Given the description of an element on the screen output the (x, y) to click on. 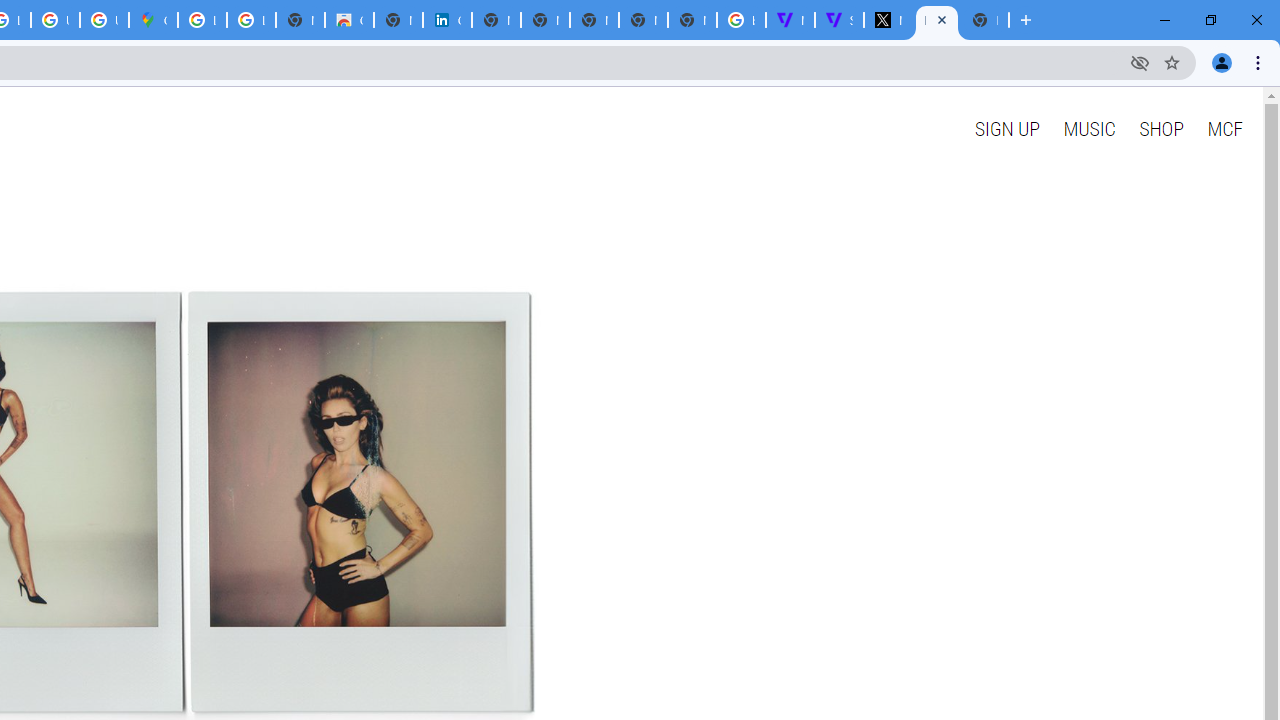
SIGN UP (1006, 128)
Miley Cyrus (@MileyCyrus) / X (888, 20)
MUSIC (1089, 128)
New Tab (692, 20)
SHOP (1161, 128)
MILEY CYRUS. (936, 20)
